Given the description of an element on the screen output the (x, y) to click on. 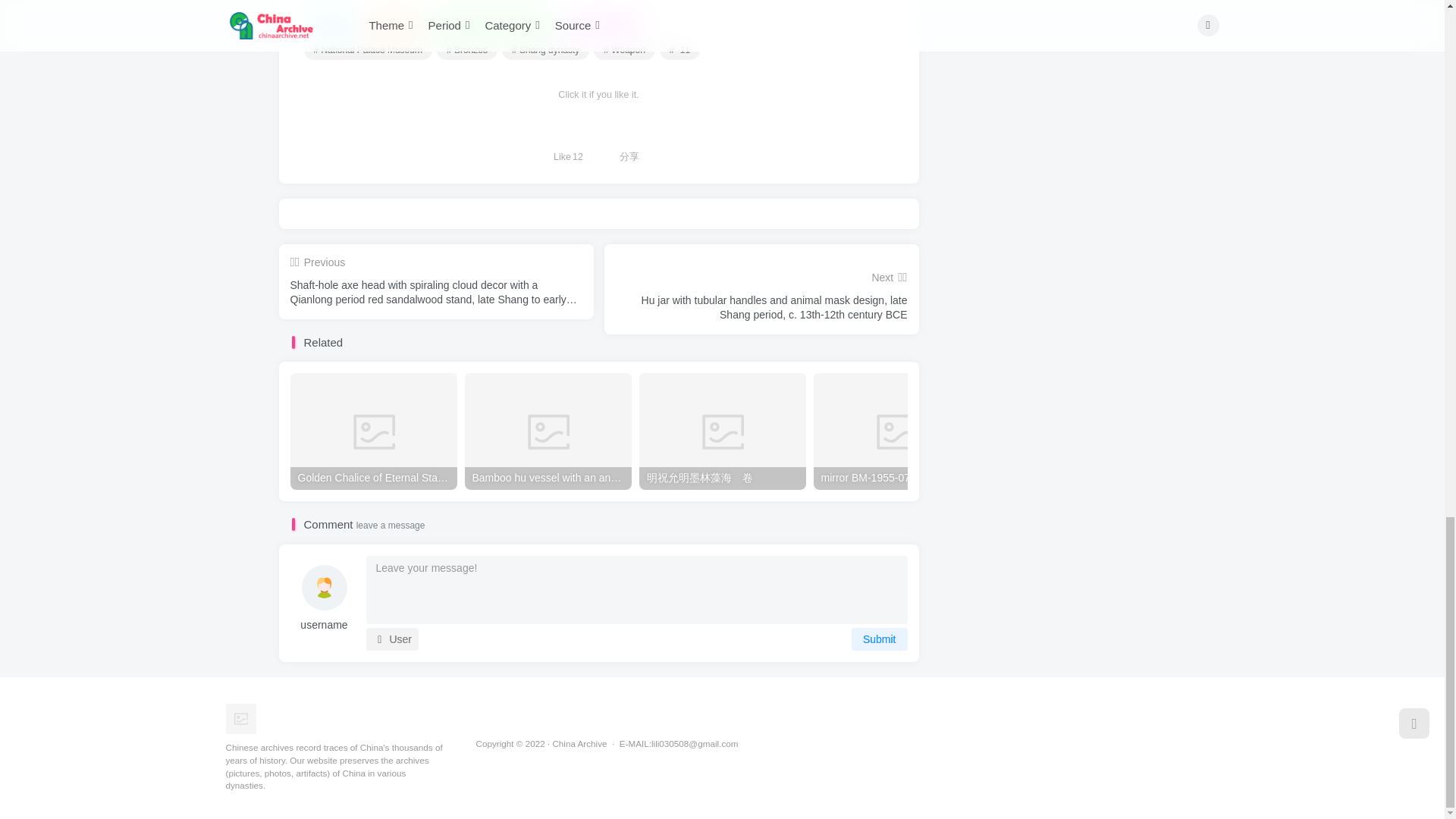
View more articles on this label (366, 49)
View more articles on this label (466, 49)
China Archive (240, 717)
View more articles on this label (624, 49)
View more articles on this label (679, 49)
View more articles on this label (545, 49)
